Given the description of an element on the screen output the (x, y) to click on. 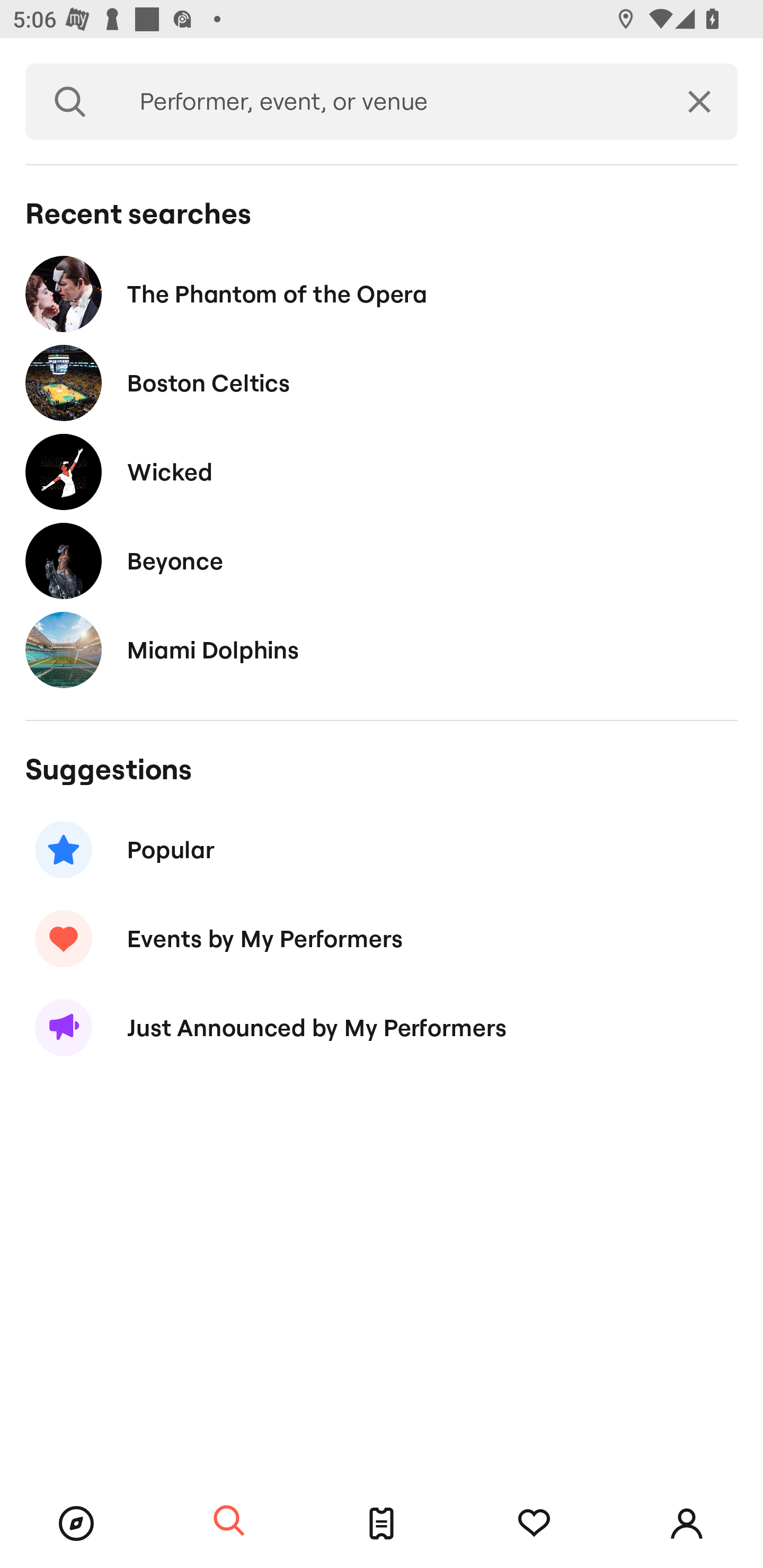
Search (69, 101)
Performer, event, or venue (387, 101)
Clear (699, 101)
The Phantom of the Opera (381, 293)
Boston Celtics (381, 383)
Wicked (381, 471)
Beyonce (381, 560)
Miami Dolphins (381, 649)
Popular (381, 849)
Events by My Performers (381, 938)
Just Announced by My Performers (381, 1027)
Browse (76, 1523)
Search (228, 1521)
Tickets (381, 1523)
Tracking (533, 1523)
Account (686, 1523)
